Given the description of an element on the screen output the (x, y) to click on. 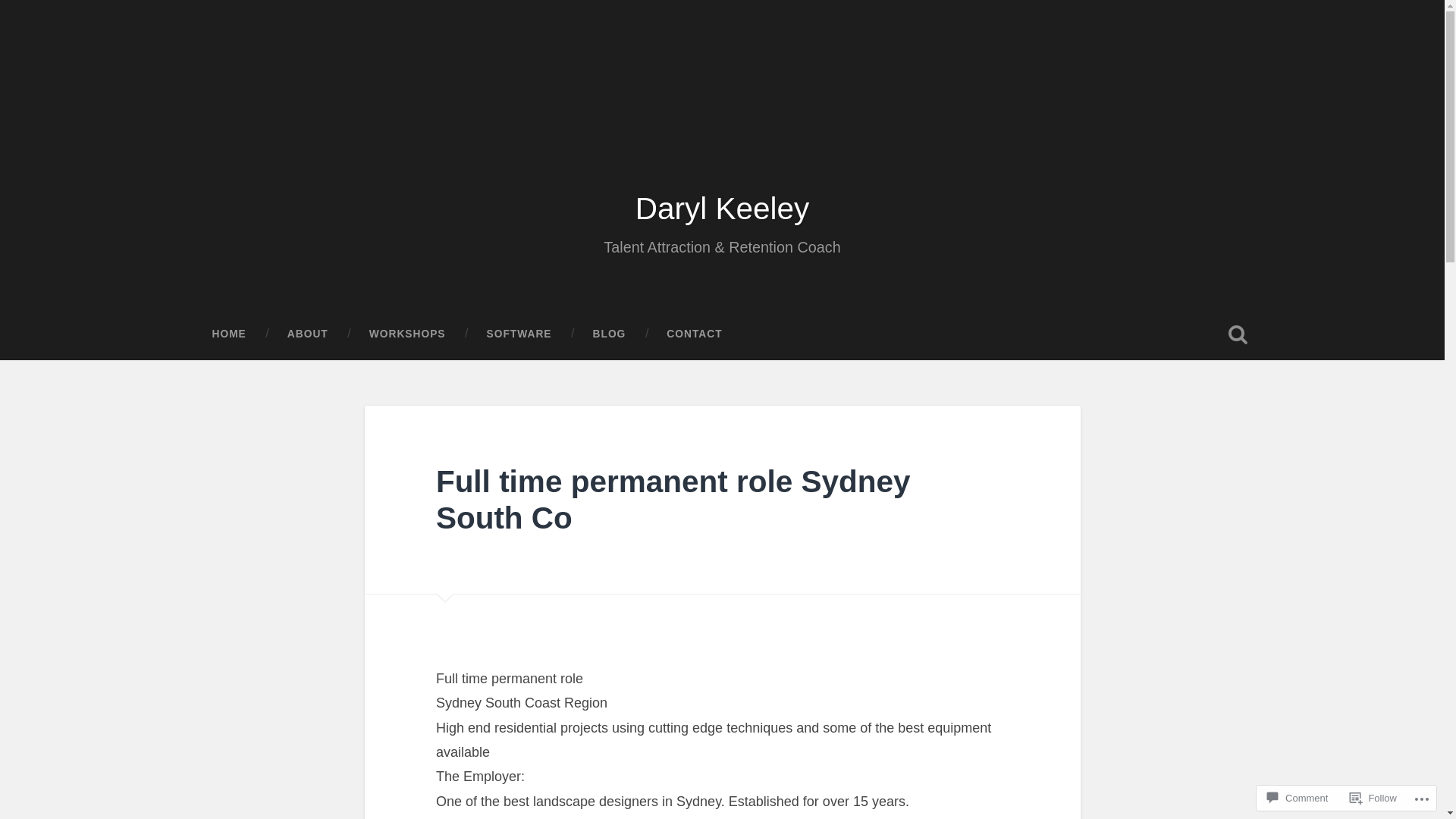
Follow Element type: text (1372, 797)
Comment Element type: text (1297, 797)
ABOUT Element type: text (307, 334)
BLOG Element type: text (609, 334)
WORKSHOPS Element type: text (407, 334)
Open Search Element type: text (1237, 334)
CONTACT Element type: text (694, 334)
Daryl Keeley Element type: text (722, 208)
SOFTWARE Element type: text (519, 334)
Full time permanent role Sydney South Co Element type: text (673, 500)
HOME Element type: text (228, 334)
